Given the description of an element on the screen output the (x, y) to click on. 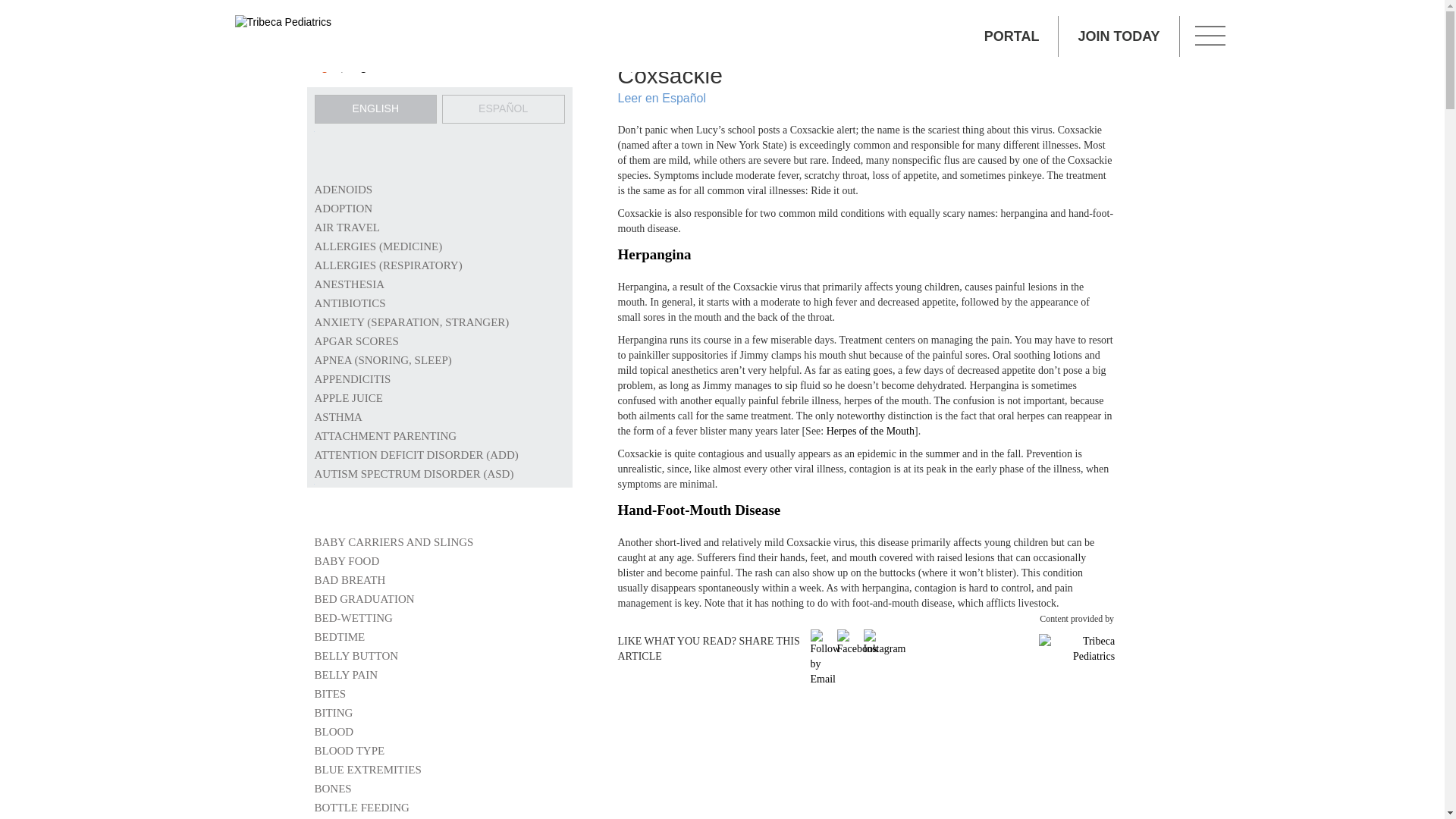
JOIN TODAY (1118, 35)
APGAR SCORES (355, 340)
Tribeca Pediatrics (282, 22)
ADENOIDS (343, 189)
Logout (365, 65)
ADOPTION (343, 208)
Facebook (857, 642)
Herpies of the Mouth (870, 430)
APPLE JUICE (347, 398)
APPENDICITIS (352, 378)
